Given the description of an element on the screen output the (x, y) to click on. 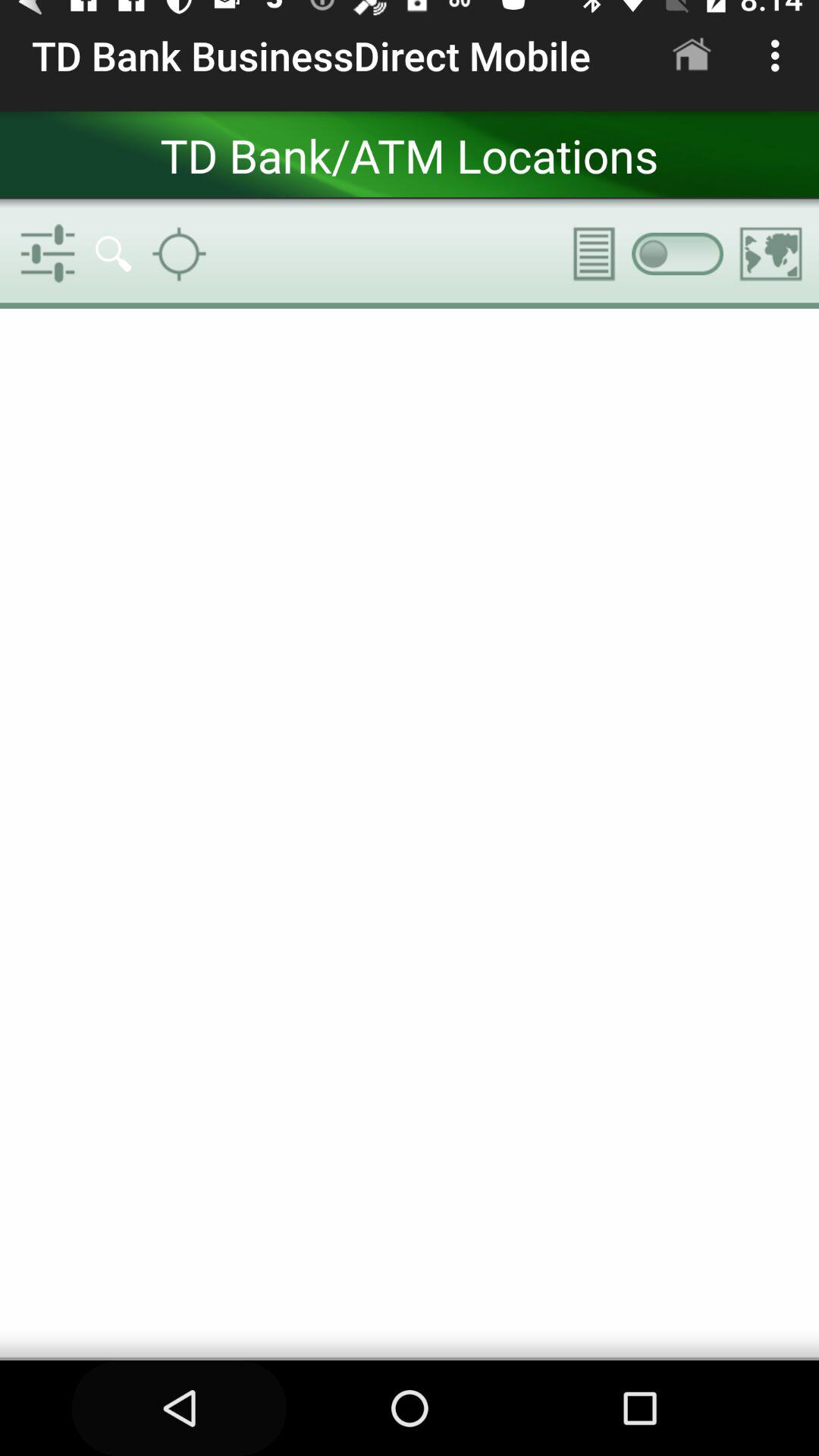
open app next to td bank businessdirect item (691, 55)
